Given the description of an element on the screen output the (x, y) to click on. 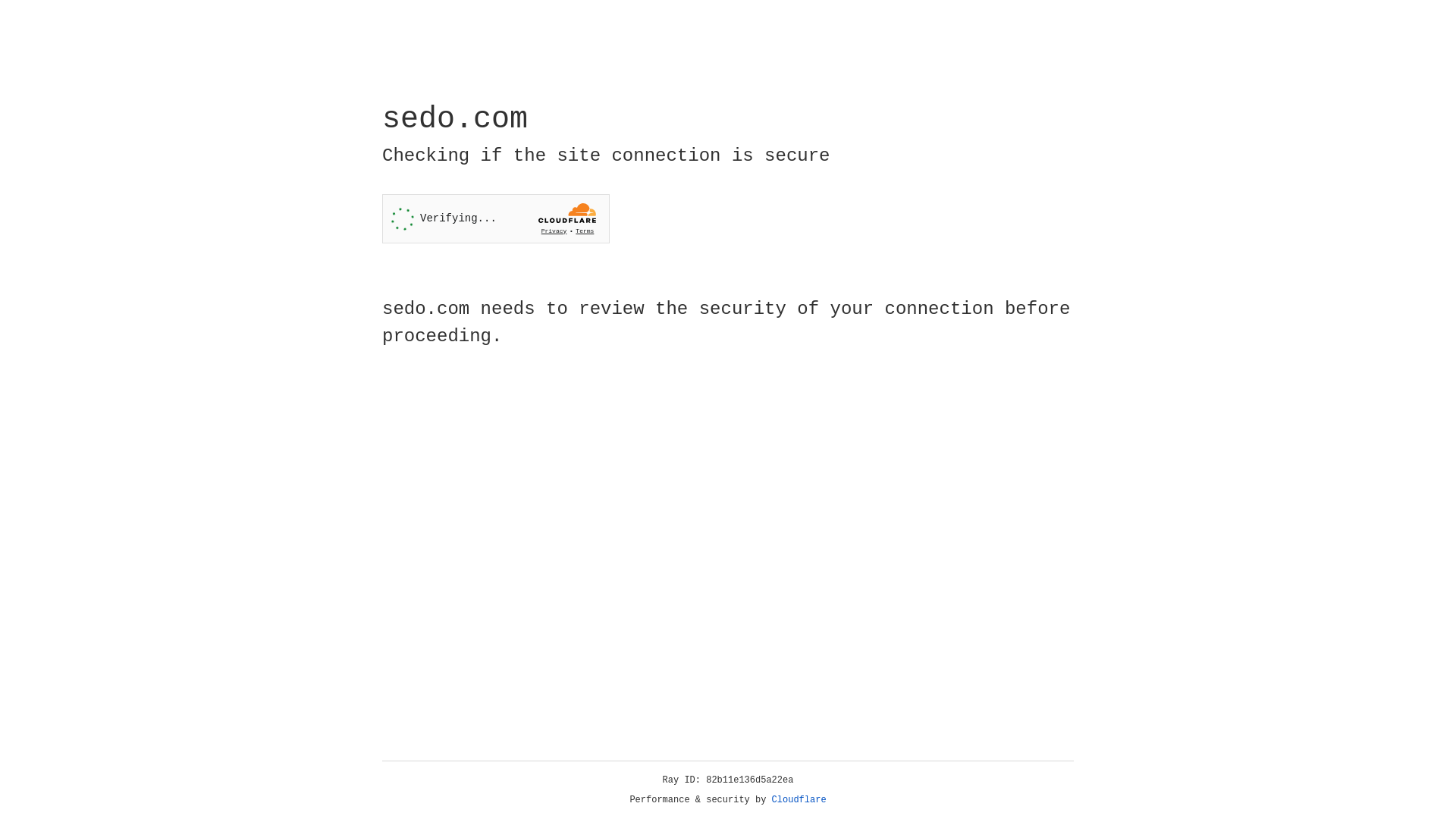
Widget containing a Cloudflare security challenge Element type: hover (495, 218)
Cloudflare Element type: text (798, 799)
